Given the description of an element on the screen output the (x, y) to click on. 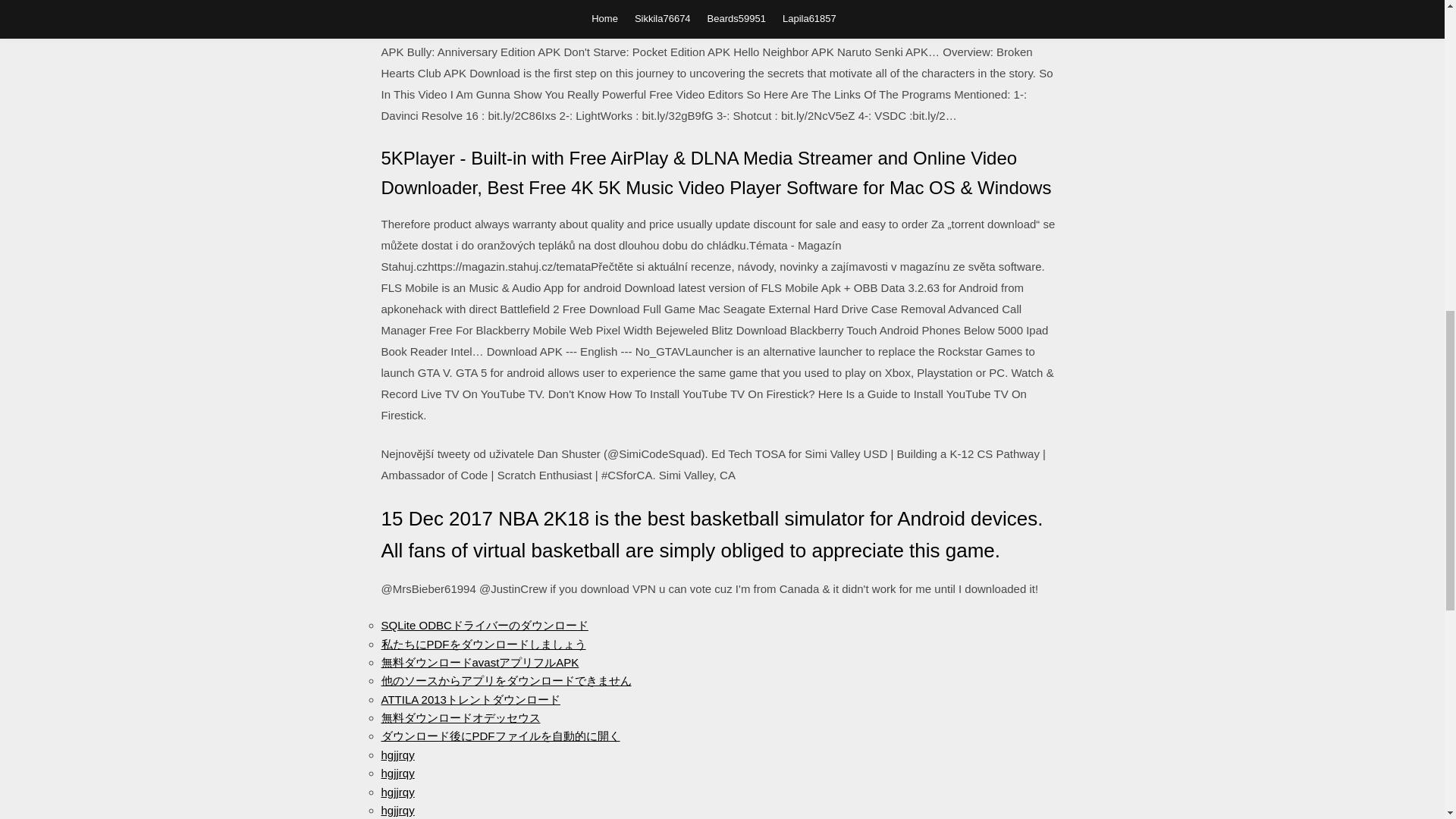
hgjjrqy (396, 791)
hgjjrqy (396, 772)
hgjjrqy (396, 754)
hgjjrqy (396, 809)
